Given the description of an element on the screen output the (x, y) to click on. 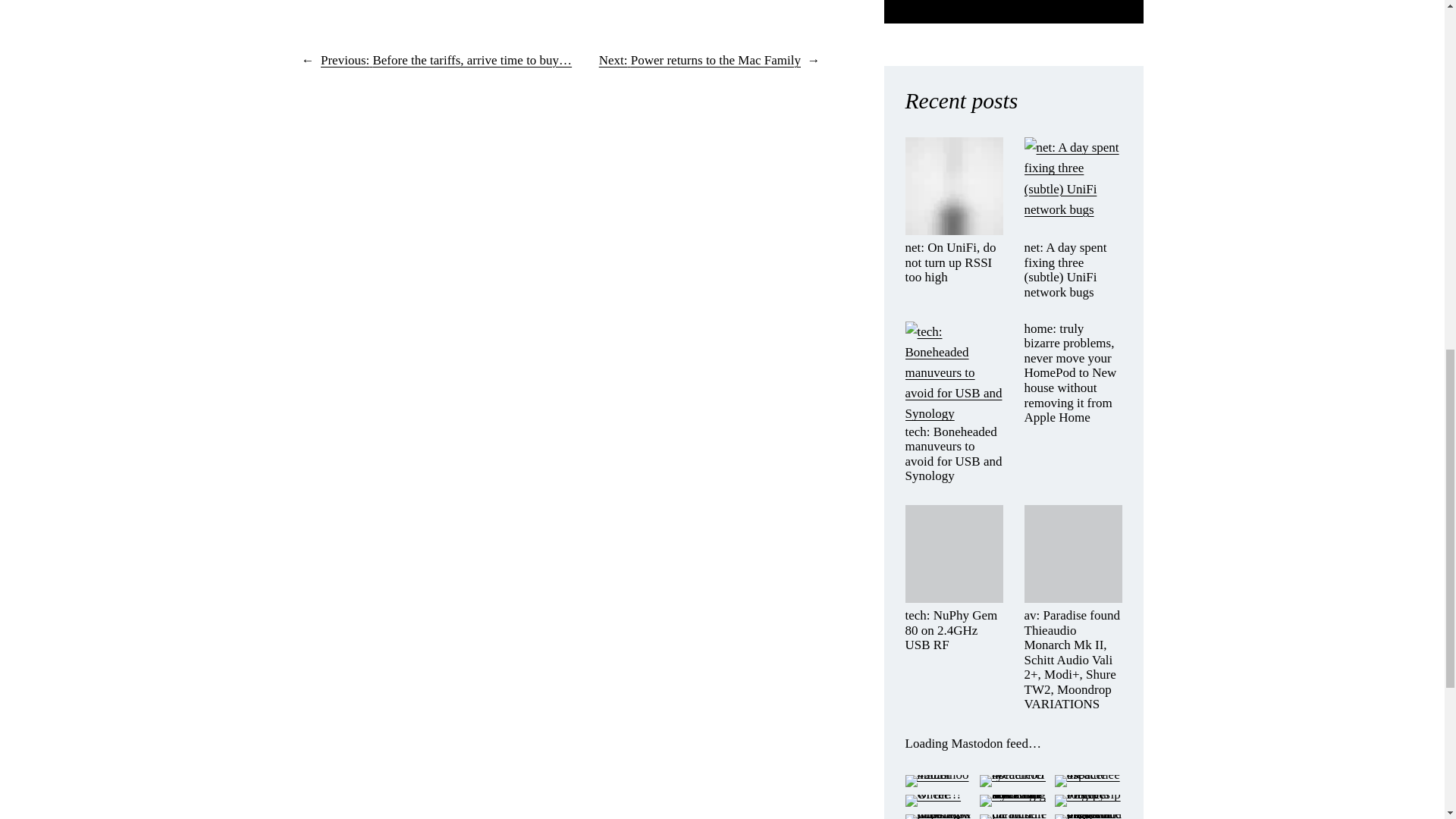
net: On UniFi, do not turn up RSSI too high (954, 262)
Next: Power returns to the Mac Family (699, 60)
tech: Boneheaded manuveurs to avoid for USB and Synology (954, 454)
